Given the description of an element on the screen output the (x, y) to click on. 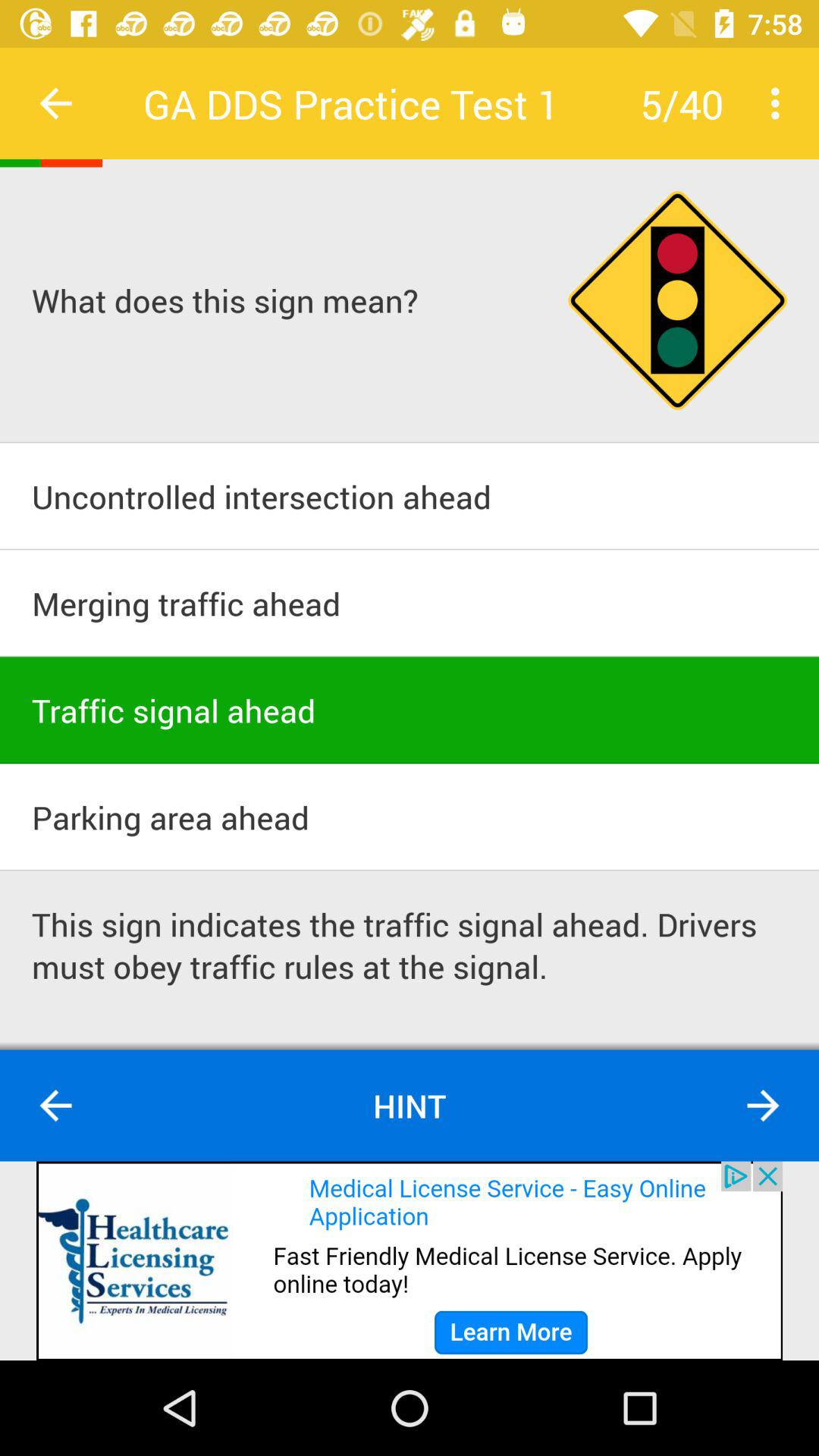
go back (55, 1105)
